Given the description of an element on the screen output the (x, y) to click on. 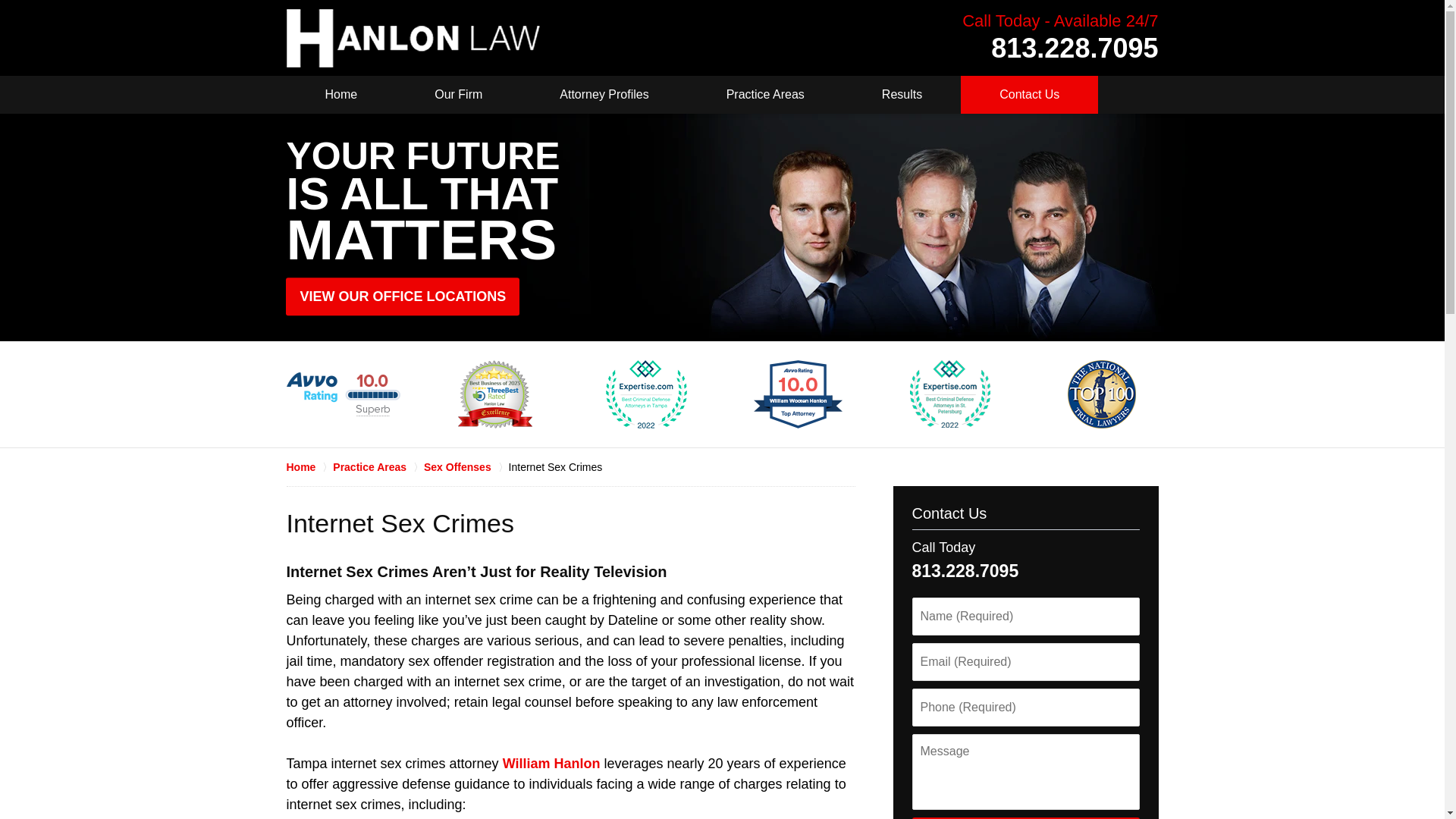
Back to Home (413, 38)
Practice Areas (765, 94)
Contact Us (1028, 94)
Hanlon Law Home (413, 38)
Contact Us (949, 513)
VIEW OUR OFFICE LOCATIONS (402, 296)
Attorney Profiles (604, 94)
Our Firm (458, 94)
Practice Areas (378, 467)
Sex Offenses (465, 467)
Home (341, 94)
William Hanlon (550, 763)
Home (309, 467)
Results (901, 94)
